Given the description of an element on the screen output the (x, y) to click on. 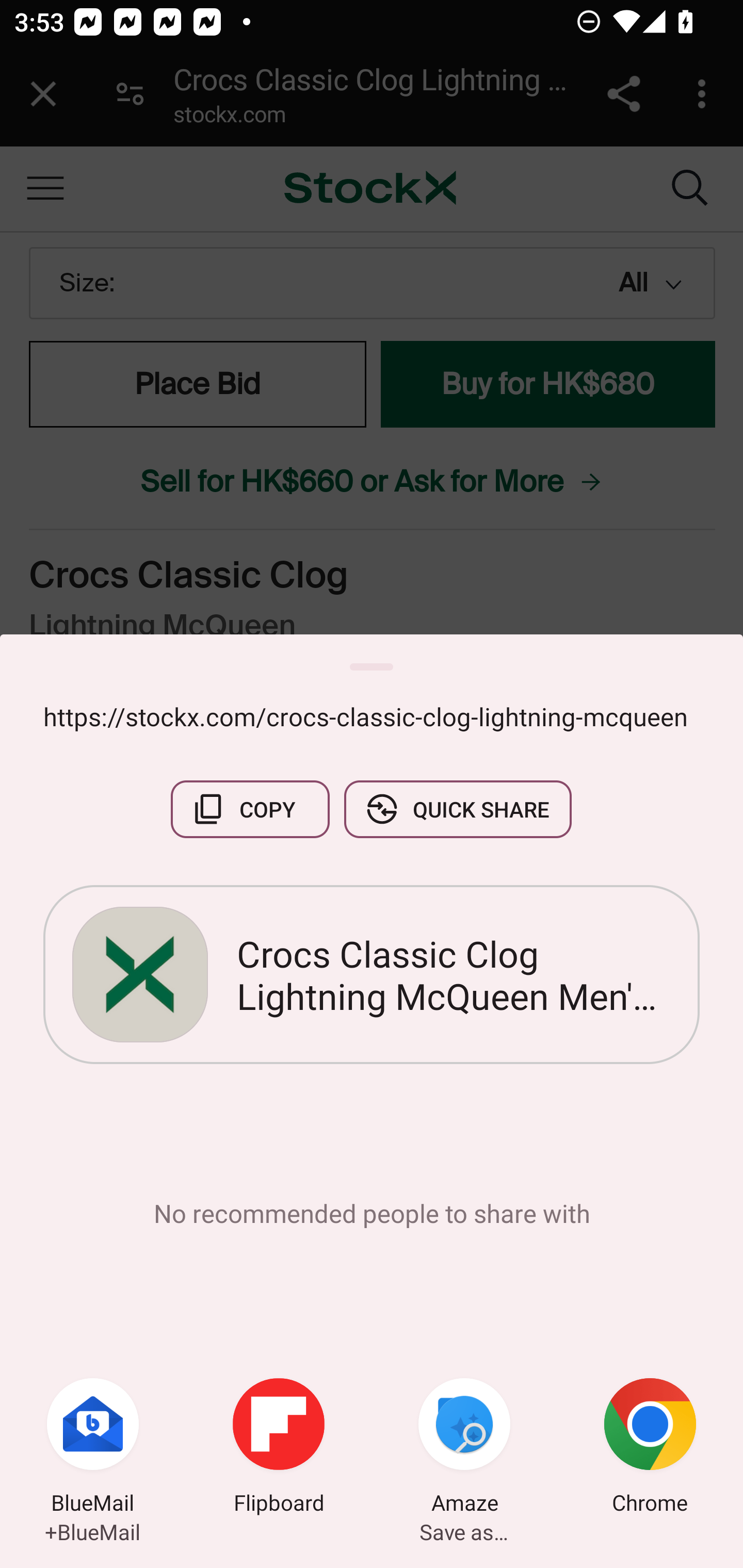
COPY (249, 808)
QUICK SHARE (457, 808)
BlueMail +BlueMail (92, 1448)
Flipboard (278, 1448)
Amaze Save as… (464, 1448)
Chrome (650, 1448)
